Given the description of an element on the screen output the (x, y) to click on. 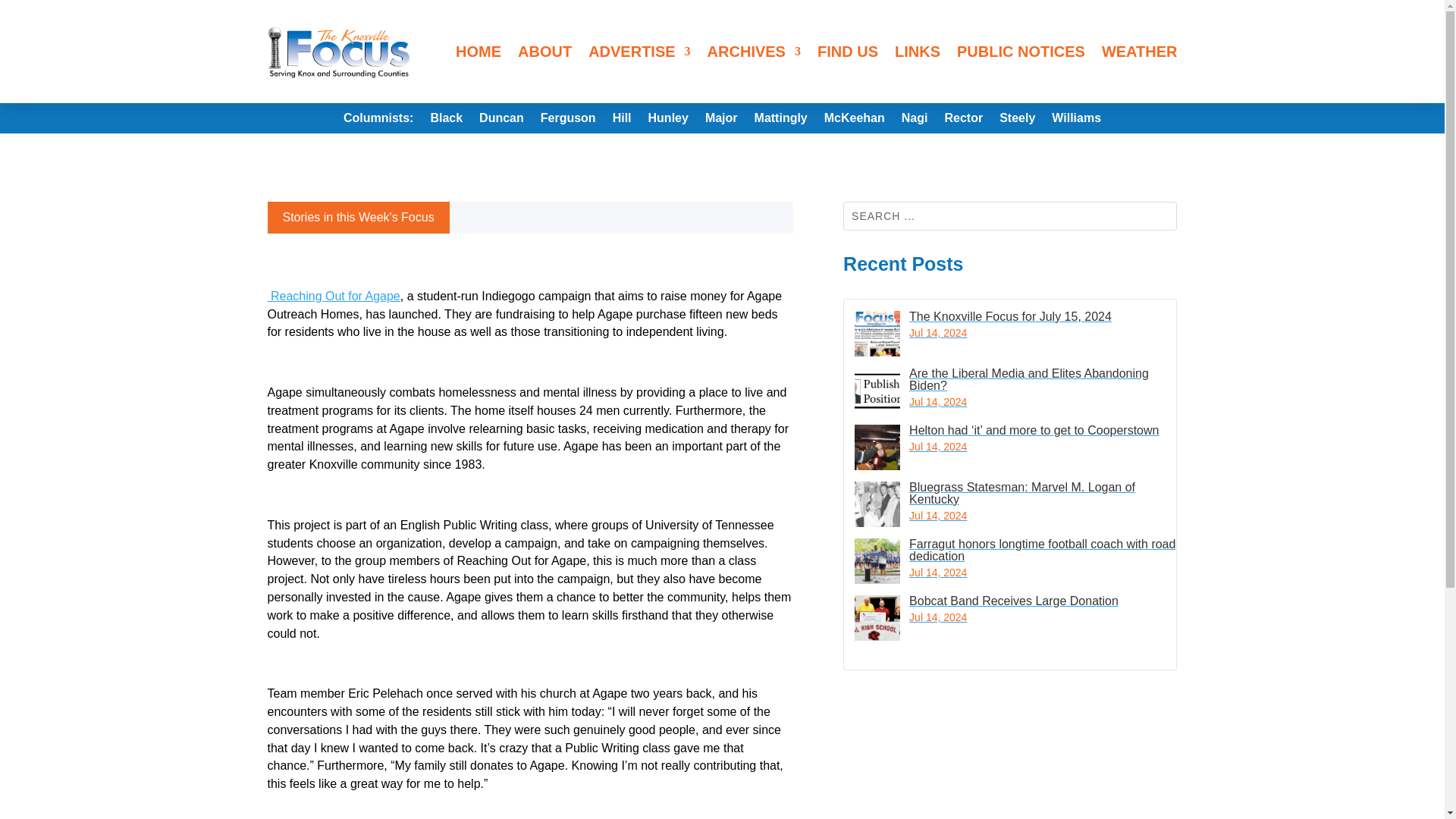
PUBLIC NOTICES (1020, 51)
ABOUT (545, 51)
WEATHER (1139, 51)
ARCHIVES (753, 51)
FIND US (846, 51)
ADVERTISE (639, 51)
